Given the description of an element on the screen output the (x, y) to click on. 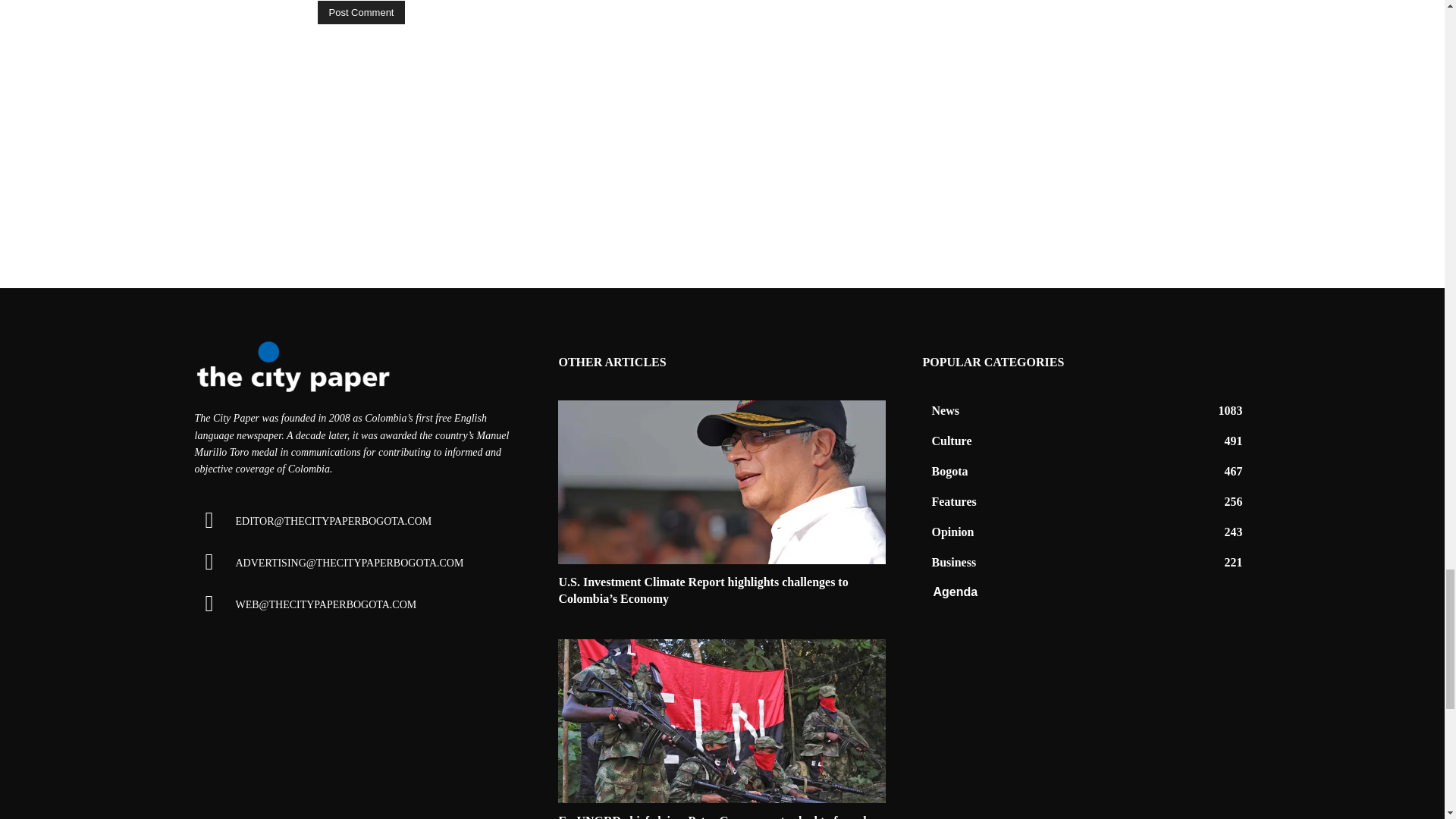
Post Comment (360, 12)
